Given the description of an element on the screen output the (x, y) to click on. 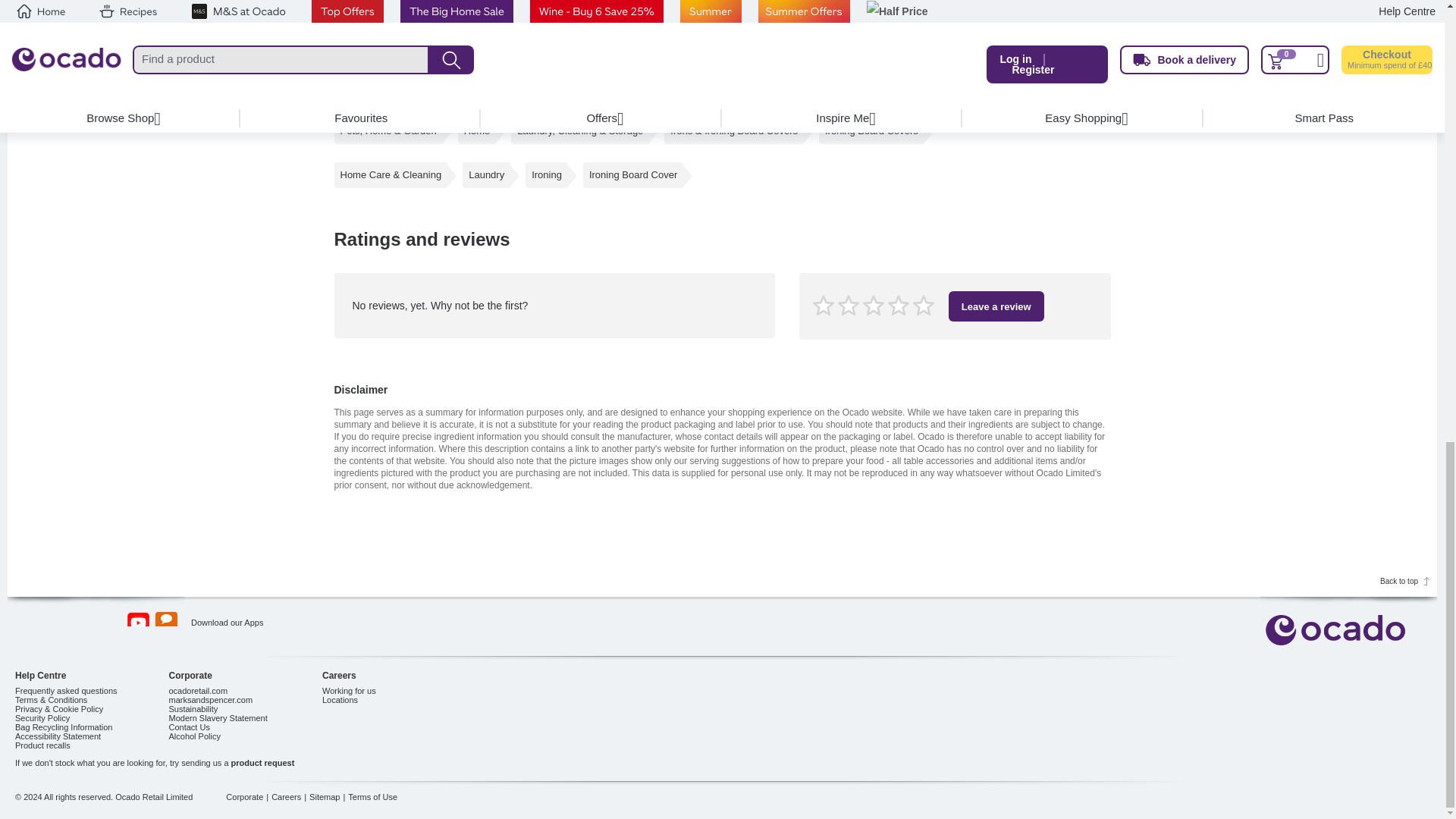
On Offer (467, 45)
Home (477, 130)
Brabantia (469, 81)
